Given the description of an element on the screen output the (x, y) to click on. 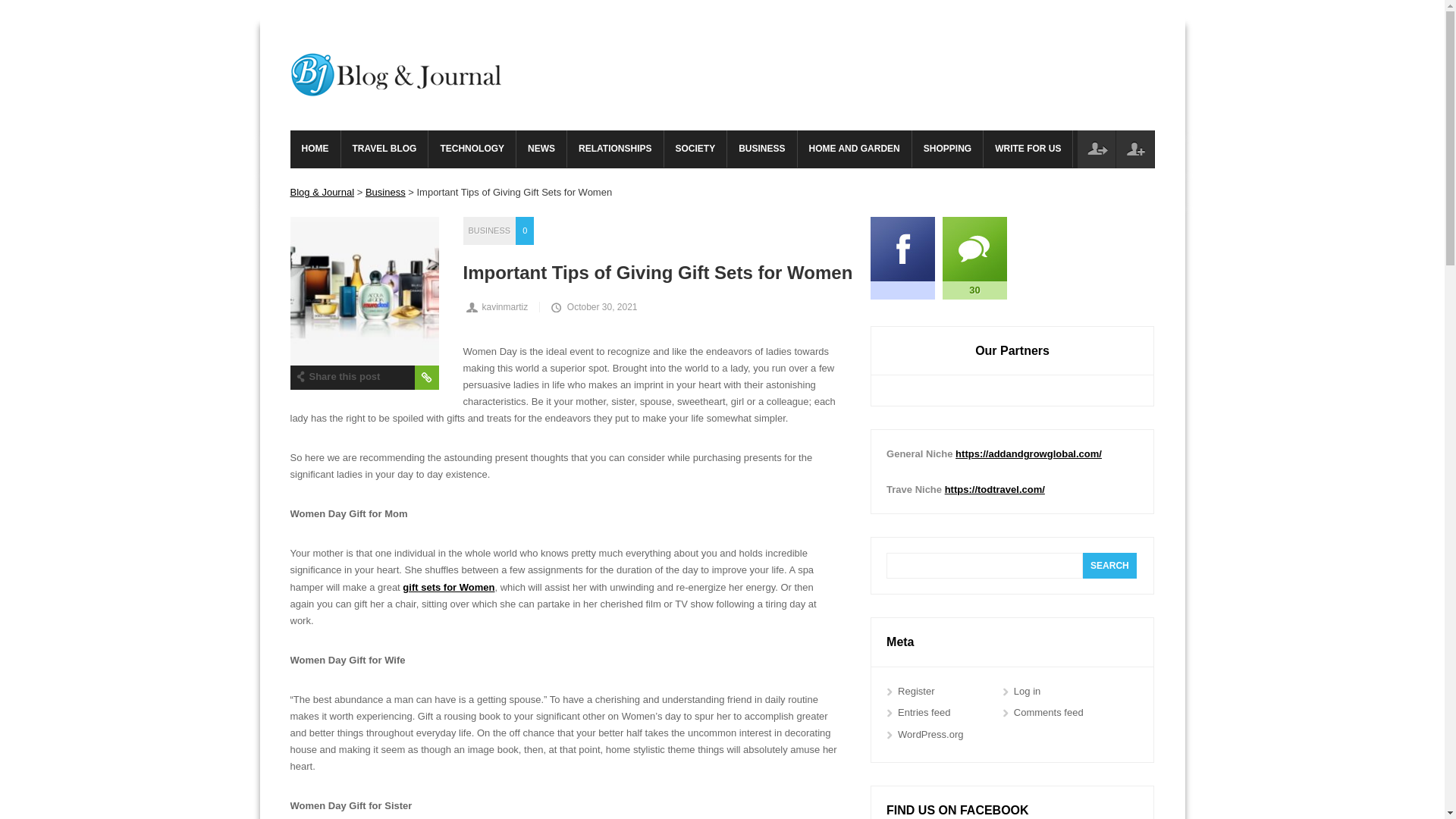
BUSINESS (761, 148)
kavinmartiz (501, 307)
Log in (1096, 149)
Search (1110, 565)
Log in (1096, 149)
Register (1135, 149)
RELATIONSHIPS (614, 148)
NEWS (541, 148)
Permalink (425, 377)
BUSINESS (489, 230)
Business (385, 192)
6:25 pm (592, 307)
WRITE FOR US (1027, 148)
TRAVEL BLOG (384, 148)
SHOPPING (947, 148)
